Given the description of an element on the screen output the (x, y) to click on. 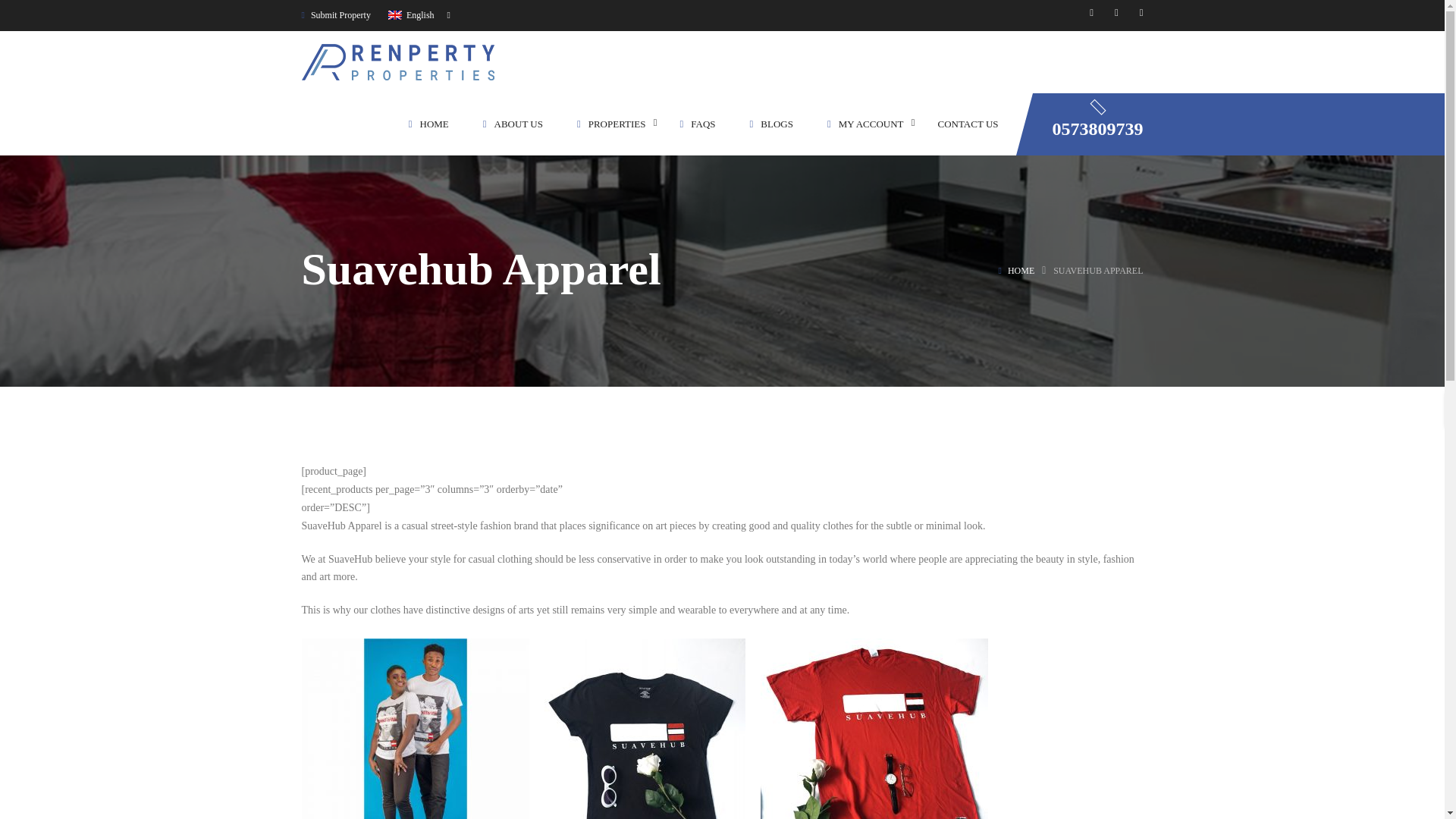
MY ACCOUNT (865, 123)
Submit Property (336, 14)
ABOUT US (513, 123)
FAQS (697, 123)
English (394, 14)
CONTACT US (967, 123)
Facebook (1091, 12)
BLOGS (771, 123)
  English (418, 14)
HOME (428, 123)
PROPERTIES (611, 123)
Submit Property (336, 14)
